Given the description of an element on the screen output the (x, y) to click on. 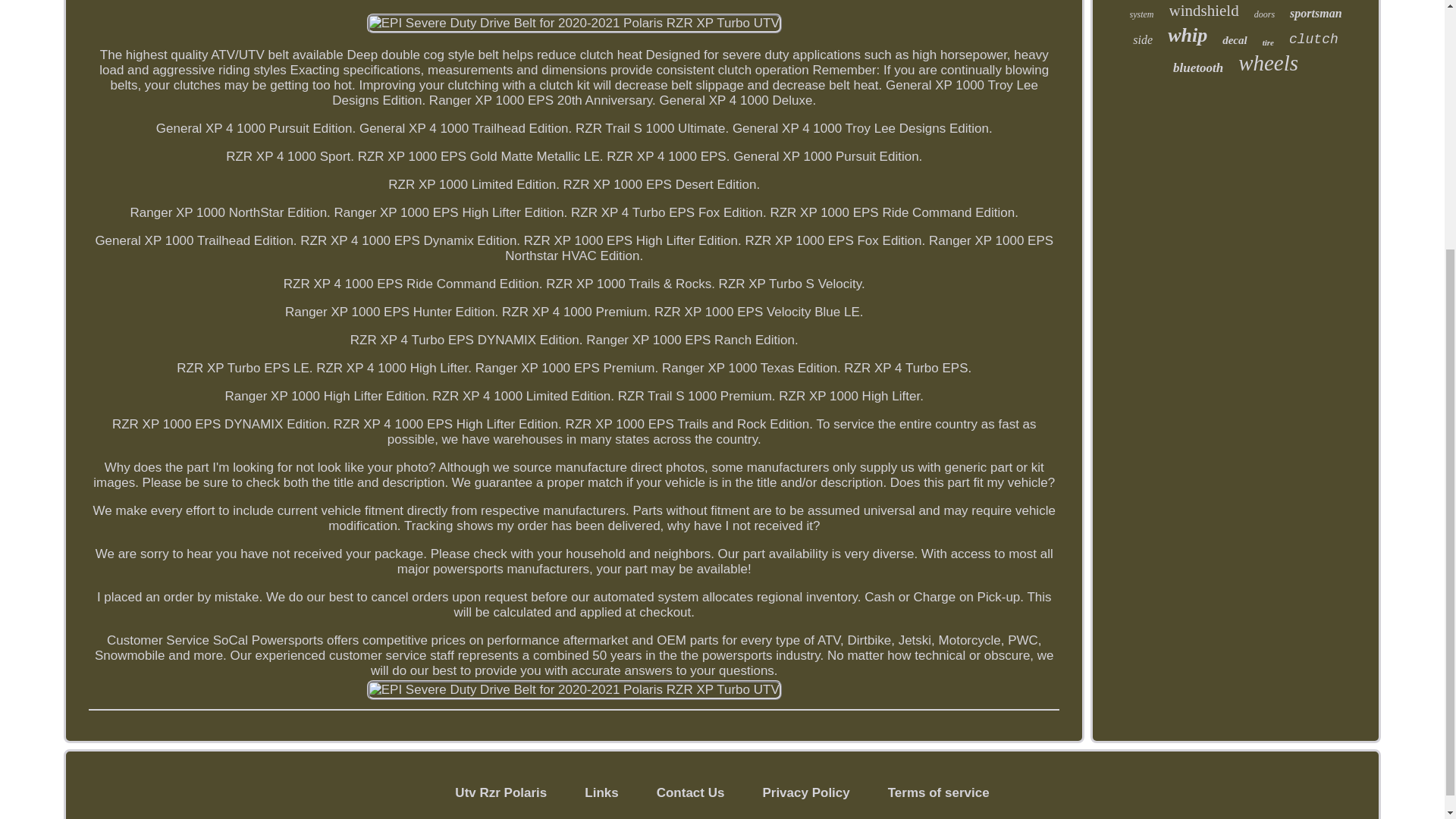
doors (1264, 14)
windshield (1204, 10)
system (1141, 14)
sportsman (1315, 13)
